Given the description of an element on the screen output the (x, y) to click on. 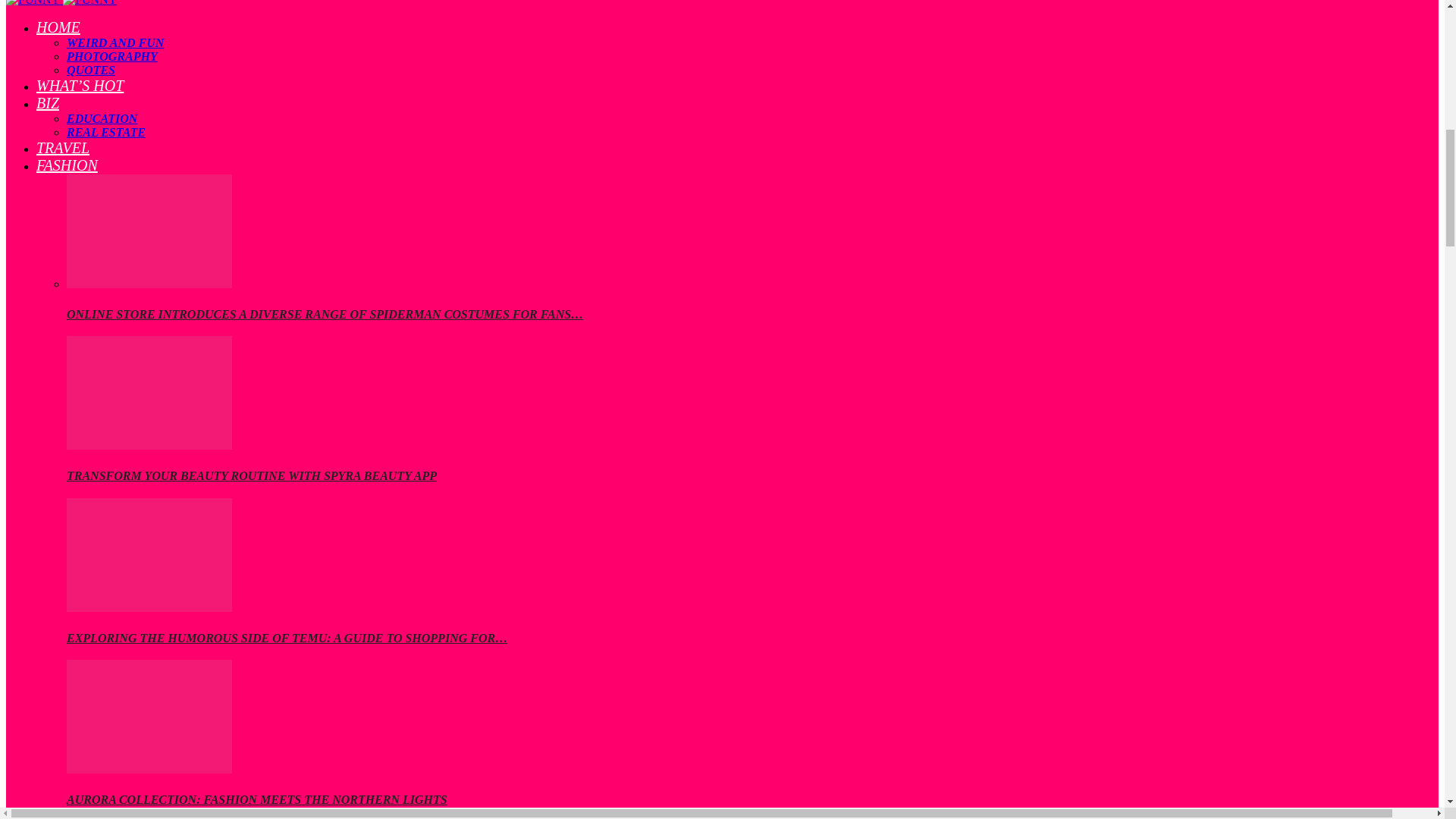
FUNNY (89, 3)
FUNNY (32, 3)
